Given the description of an element on the screen output the (x, y) to click on. 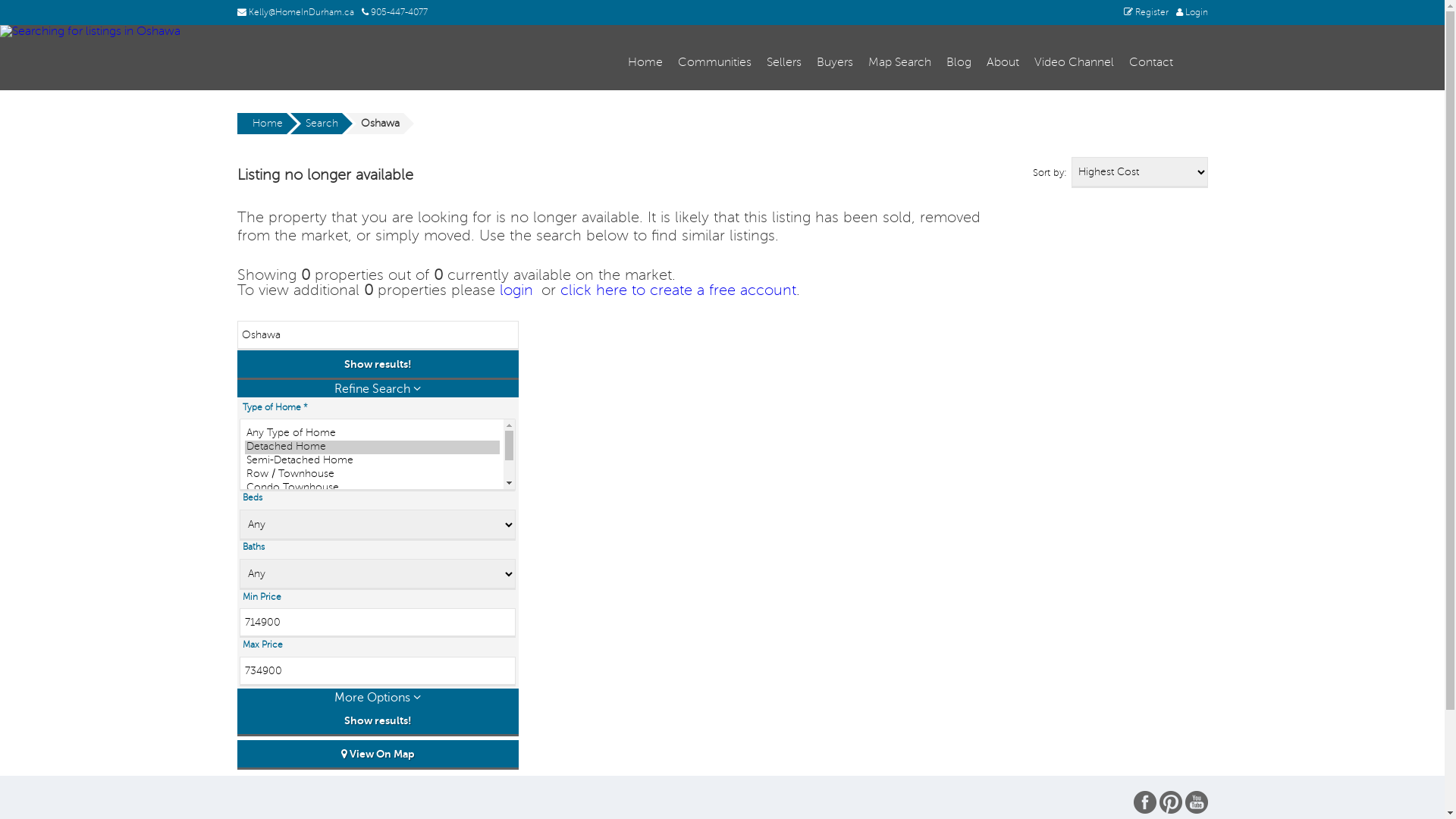
Communities Element type: text (714, 63)
 Register Element type: text (1145, 12)
login Element type: text (515, 290)
About Element type: text (1002, 63)
 Kelly@HomeInDurham.ca Element type: text (294, 12)
Video Channel Element type: text (1073, 63)
YouTube Element type: text (1195, 801)
 Login Element type: text (1191, 12)
More Options Element type: text (376, 697)
Refine Search Element type: text (376, 388)
Show results! Element type: text (376, 364)
Map Search Element type: text (899, 63)
View On Map Element type: text (376, 754)
Home Element type: text (260, 123)
Show results! Element type: text (376, 721)
Facebook Element type: text (1143, 801)
Contact Element type: text (1151, 63)
click here to create a free account Element type: text (677, 290)
Home Element type: text (644, 63)
Sellers Element type: text (783, 63)
Pinterest Element type: text (1169, 801)
Blog Element type: text (958, 63)
 905-447-4077 Element type: text (393, 12)
Buyers Element type: text (834, 63)
Search Element type: text (315, 123)
